Given the description of an element on the screen output the (x, y) to click on. 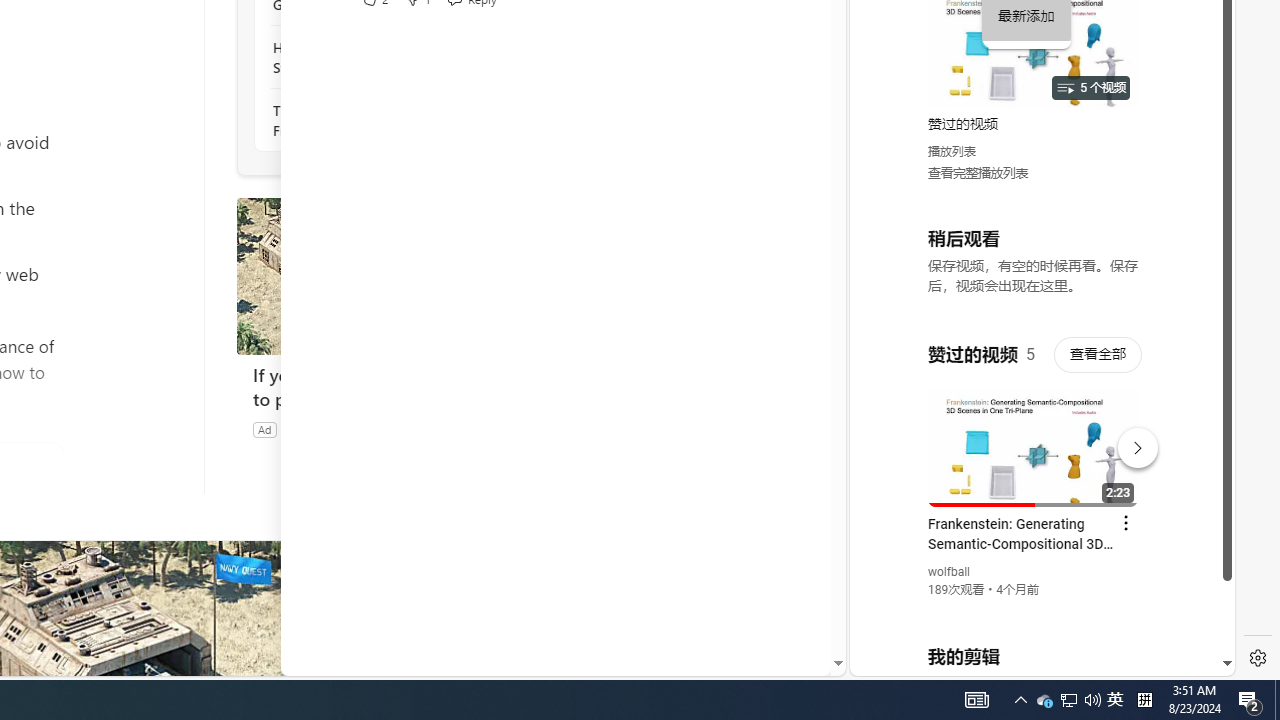
YouTube - YouTube (1034, 266)
These Are the Best Sites for DRM-Free eBooks and Comics (381, 120)
you (1034, 609)
US[ju] (917, 660)
How to Check Your Wi-Fi Signal Strength (381, 57)
